Given the description of an element on the screen output the (x, y) to click on. 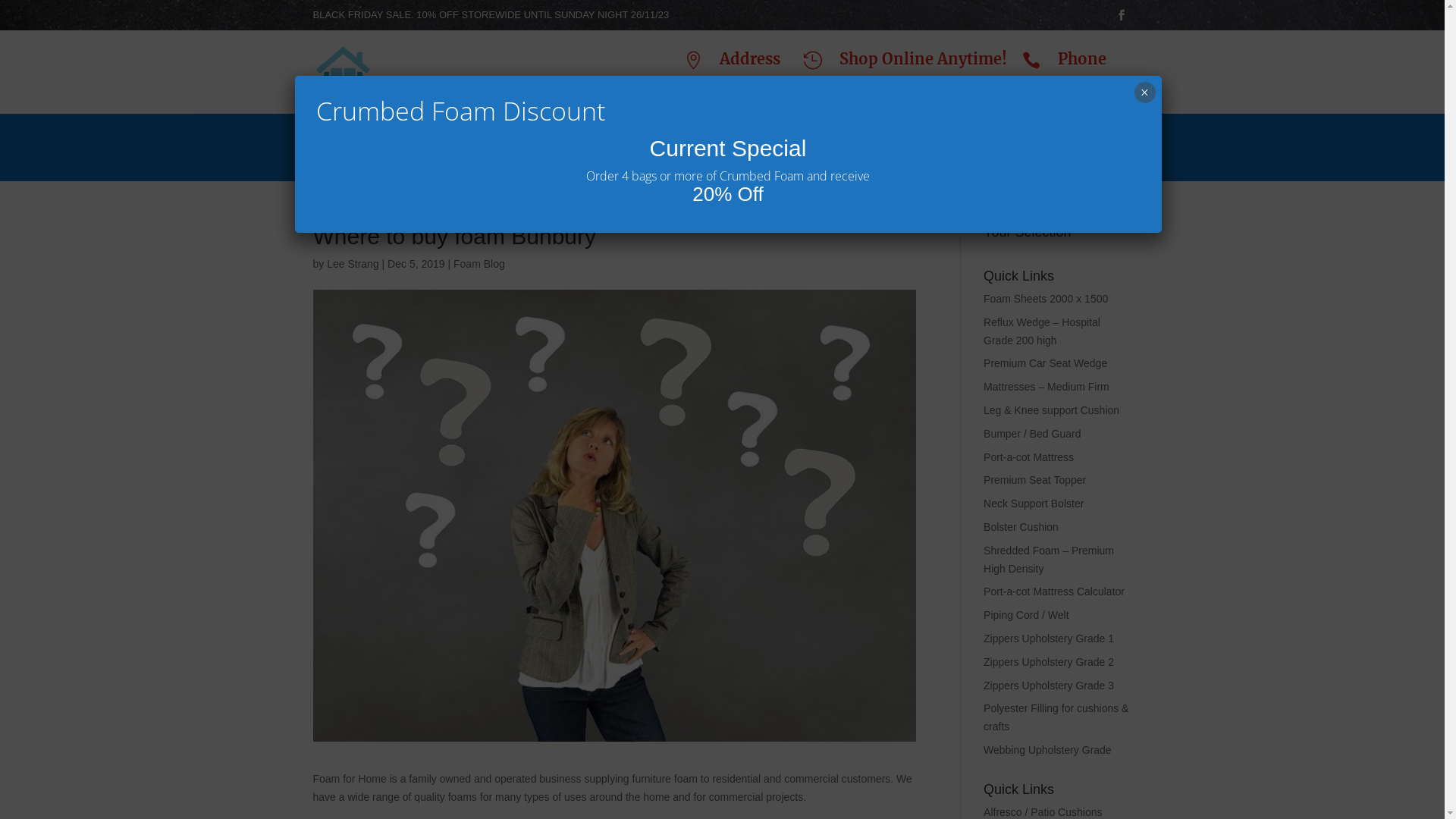
Shop Element type: text (1010, 143)
Polyester Filling for cushions & crafts Element type: text (1055, 717)
Outdoor Foam Element type: text (519, 143)
0 Items Element type: text (1074, 140)
Foam for Home Logo Element type: hover (342, 71)
Neck Support Bolster Element type: text (1033, 503)
Indoor Foam Element type: text (411, 143)
Follow on Facebook Element type: hover (1120, 14)
Bumper / Bed Guard Element type: text (1031, 433)
Webbing Upholstery Grade Element type: text (1047, 749)
Port A Cot Mattress Element type: text (903, 143)
Zippers Upholstery Grade 1 Element type: text (1048, 638)
Alfresco / Patio Cushions Element type: text (1042, 812)
Foam Sheets 2000 x 1500 Element type: text (1045, 298)
1300 781 007 Element type: text (1094, 82)
Leg & Knee support Cushion Element type: text (1051, 410)
Piping Cord / Welt Element type: text (1026, 614)
Foam Blog Element type: text (479, 263)
Zippers Upholstery Grade 2 Element type: text (1048, 661)
Home Element type: text (331, 143)
Foam Calculator Element type: text (639, 144)
Bolster Cushion Element type: text (1020, 526)
Lee Strang Element type: text (352, 263)
Premium Seat Topper Element type: text (1034, 479)
Port-a-cot Mattress Calculator Element type: text (1053, 591)
Bean Bag Filling Element type: text (766, 143)
Port-a-cot Mattress Element type: text (1028, 457)
Premium Car Seat Wedge Element type: text (1045, 363)
Zippers Upholstery Grade 3 Element type: text (1048, 685)
